Given the description of an element on the screen output the (x, y) to click on. 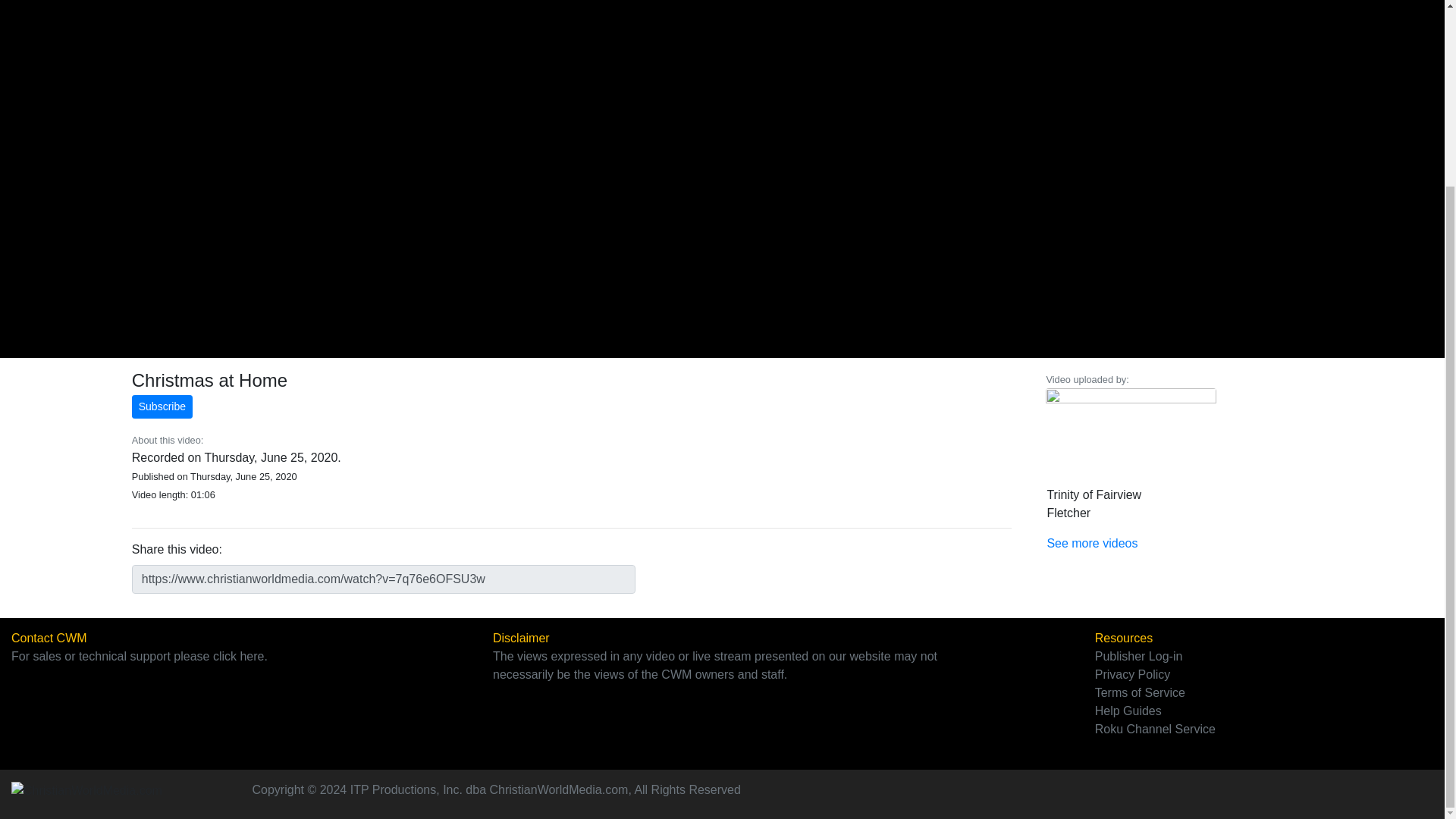
Roku Channel Service (1154, 728)
Publisher Log-in (1138, 656)
See more videos (1091, 543)
Help Guides (1127, 710)
Subscribe (162, 406)
For sales or technical support please click here. (139, 656)
Terms of Service (1139, 692)
Privacy Policy (1132, 674)
